Given the description of an element on the screen output the (x, y) to click on. 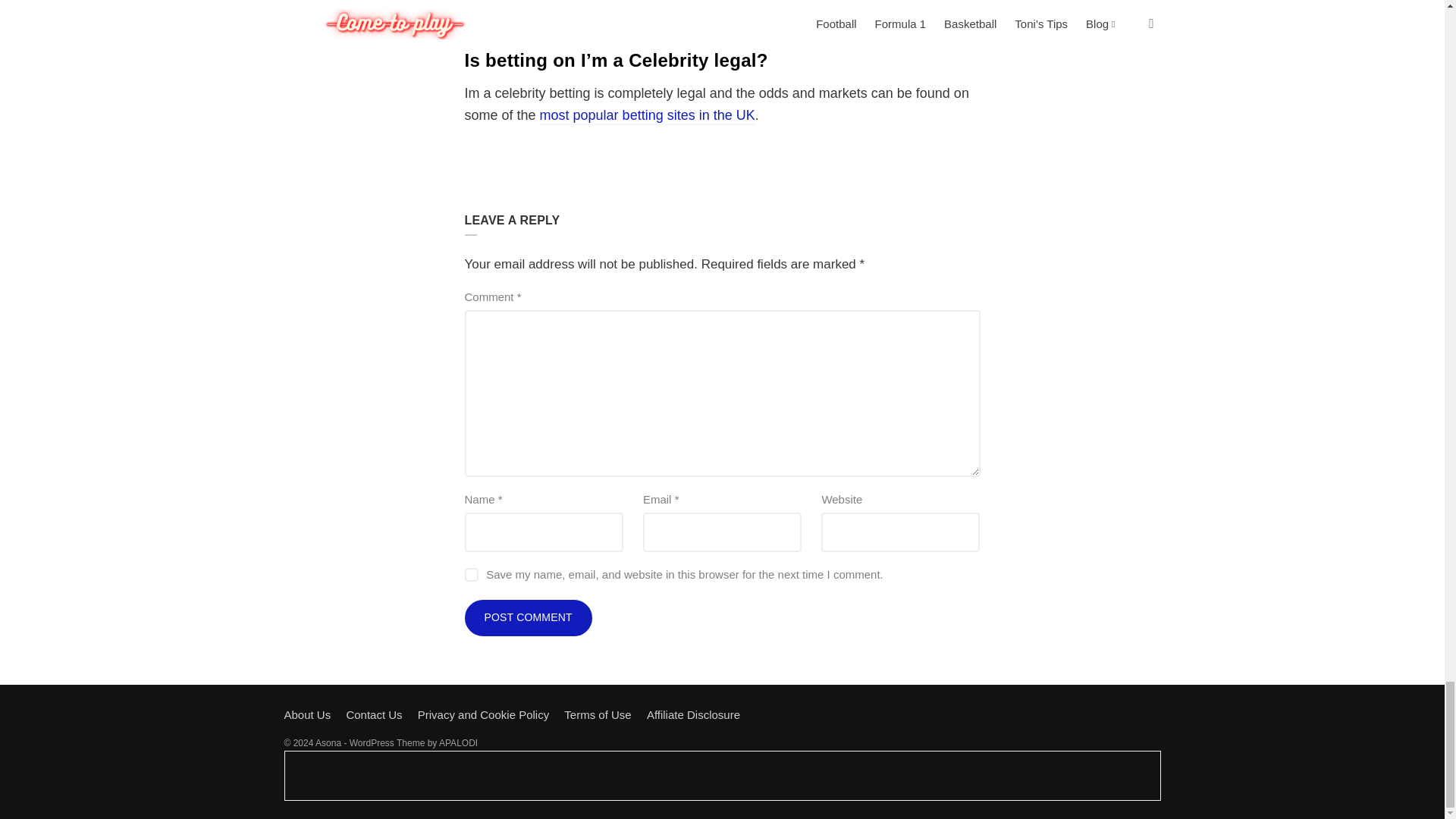
Post Comment (527, 617)
Post Comment (527, 617)
About Us (306, 714)
Affiliate Disclosure (692, 714)
most popular betting sites in the UK (647, 116)
Contact Us (373, 714)
yes (470, 574)
Terms of Use (597, 714)
Privacy and Cookie Policy (482, 714)
